Given the description of an element on the screen output the (x, y) to click on. 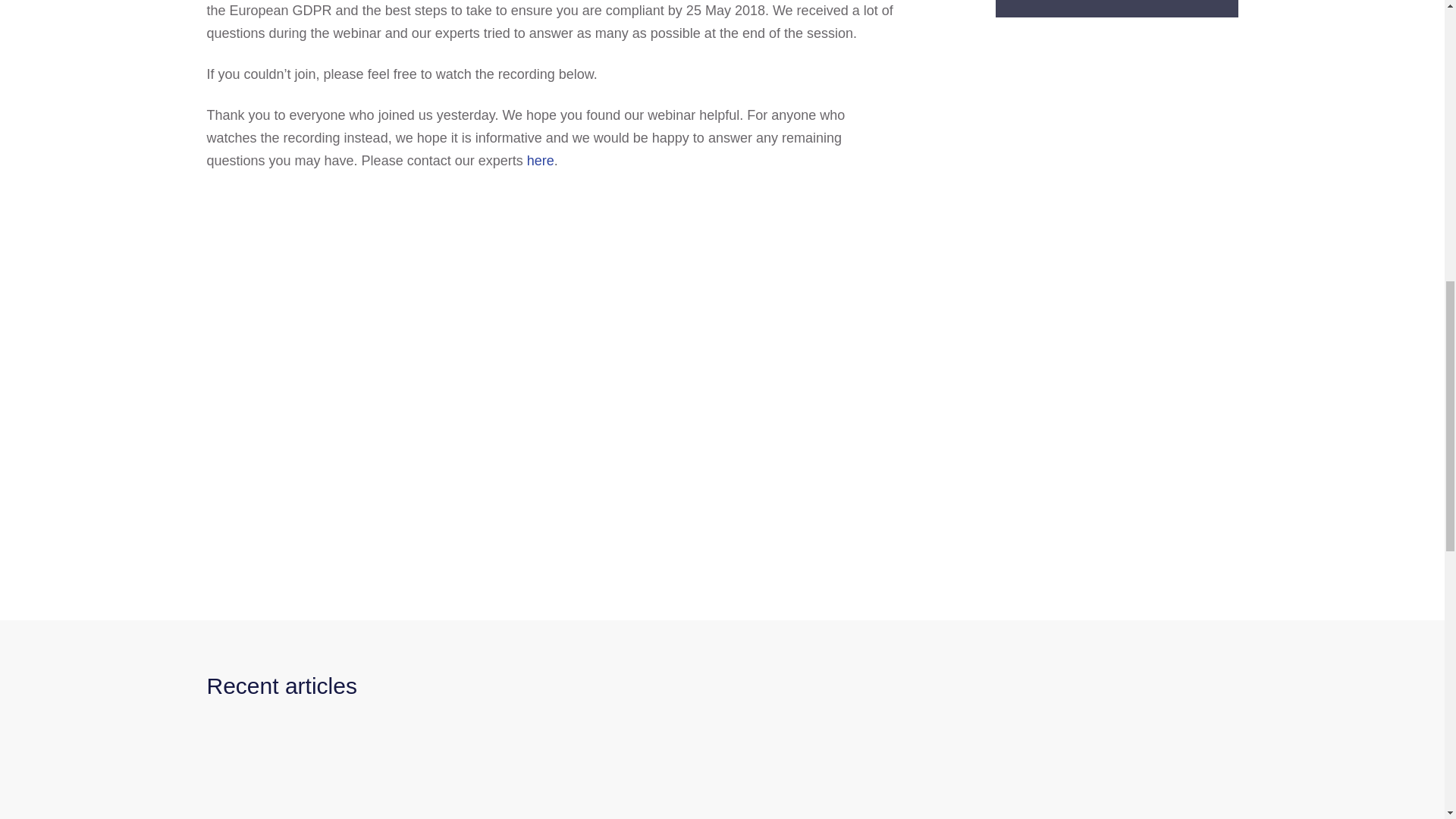
here (540, 160)
